Given the description of an element on the screen output the (x, y) to click on. 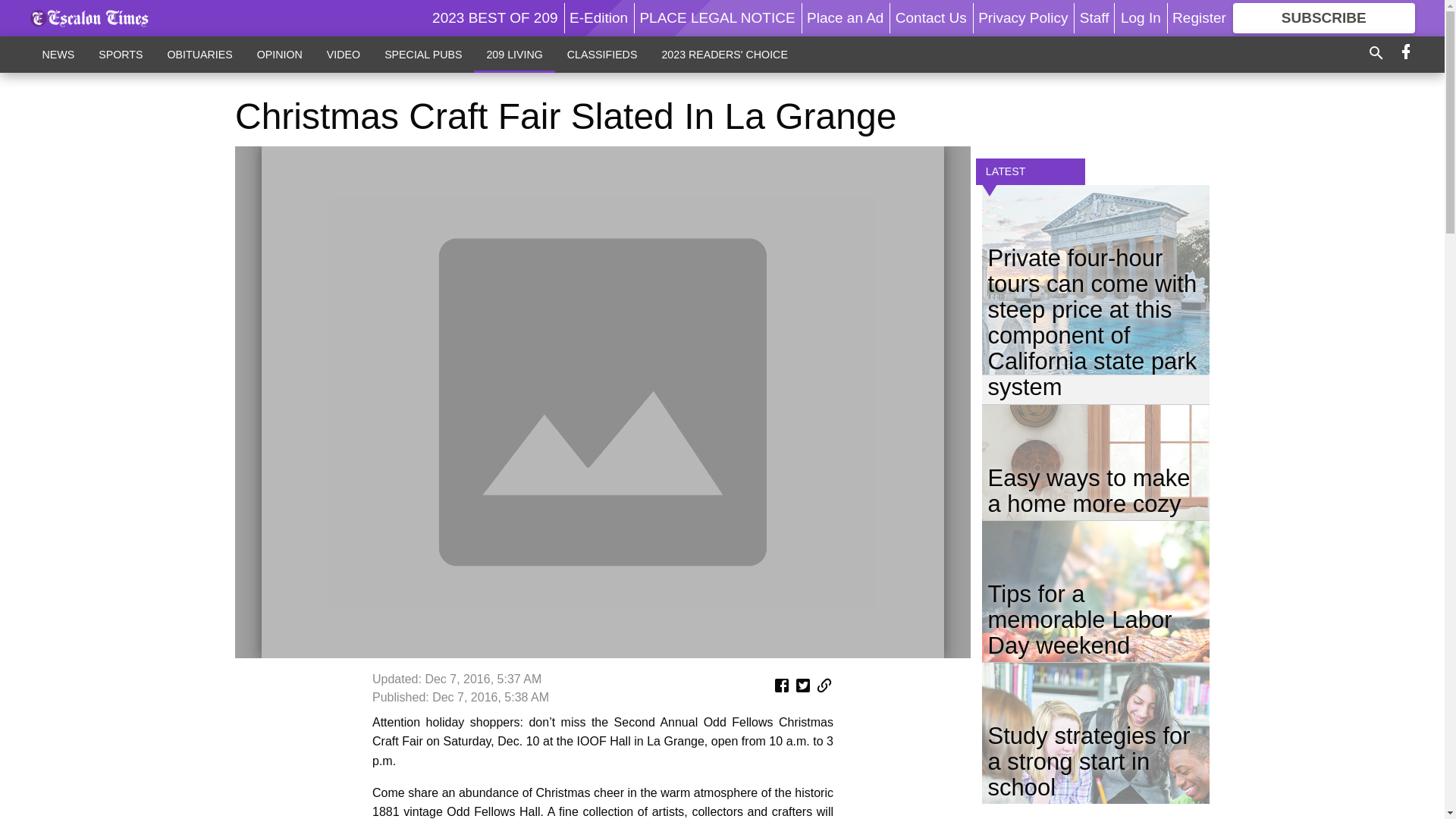
Privacy Policy (1022, 17)
2023 READERS' CHOICE (724, 54)
E-Edition (598, 17)
CLASSIFIEDS (601, 54)
SPORTS (119, 54)
Register (1198, 17)
Log In (1140, 17)
PLACE LEGAL NOTICE (716, 17)
Contact Us (930, 17)
Place an Ad (844, 17)
